Given the description of an element on the screen output the (x, y) to click on. 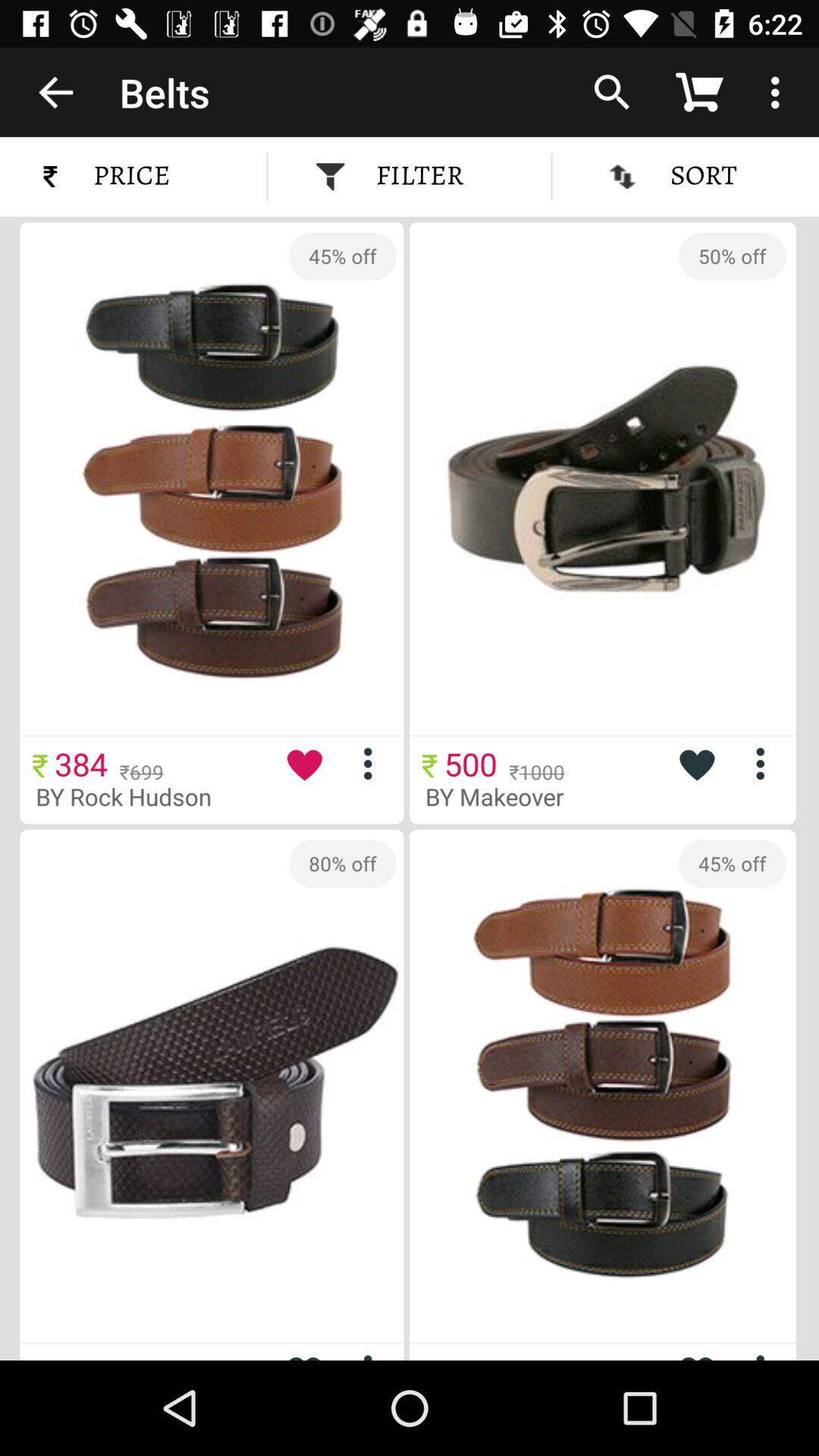
press icon above the sort item (611, 92)
